Given the description of an element on the screen output the (x, y) to click on. 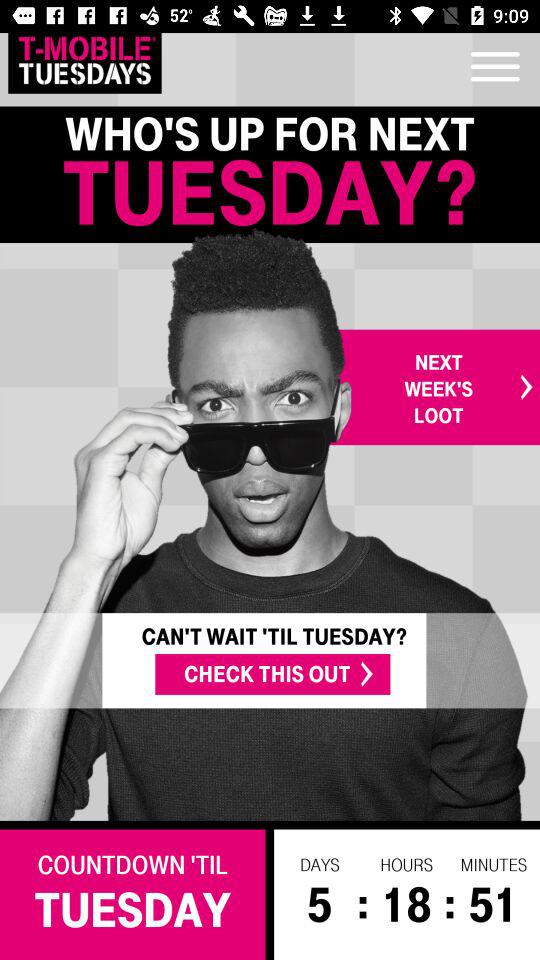
turn on the icon at the top left corner (84, 60)
